Given the description of an element on the screen output the (x, y) to click on. 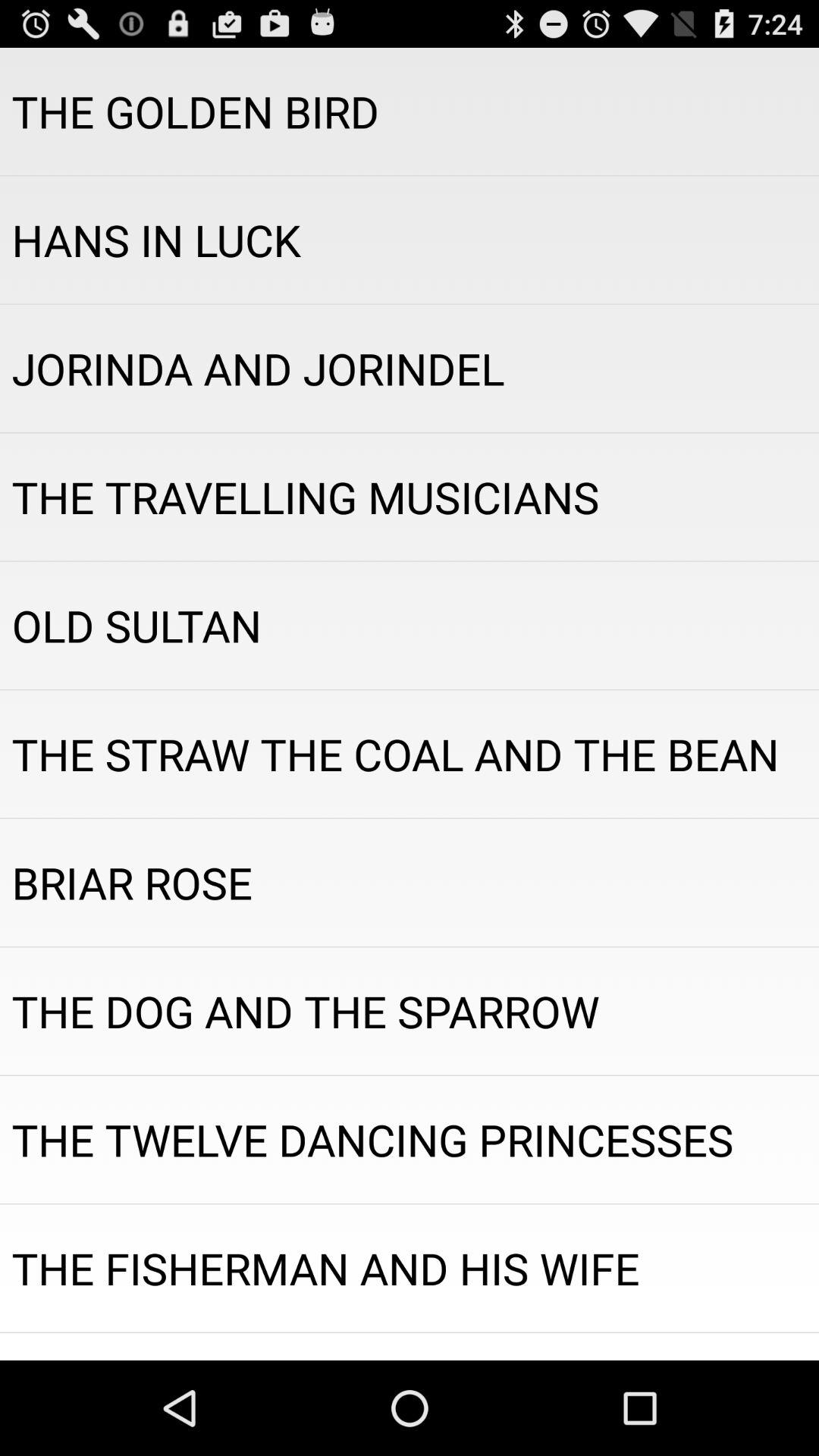
open icon above the fisherman and app (409, 1139)
